Given the description of an element on the screen output the (x, y) to click on. 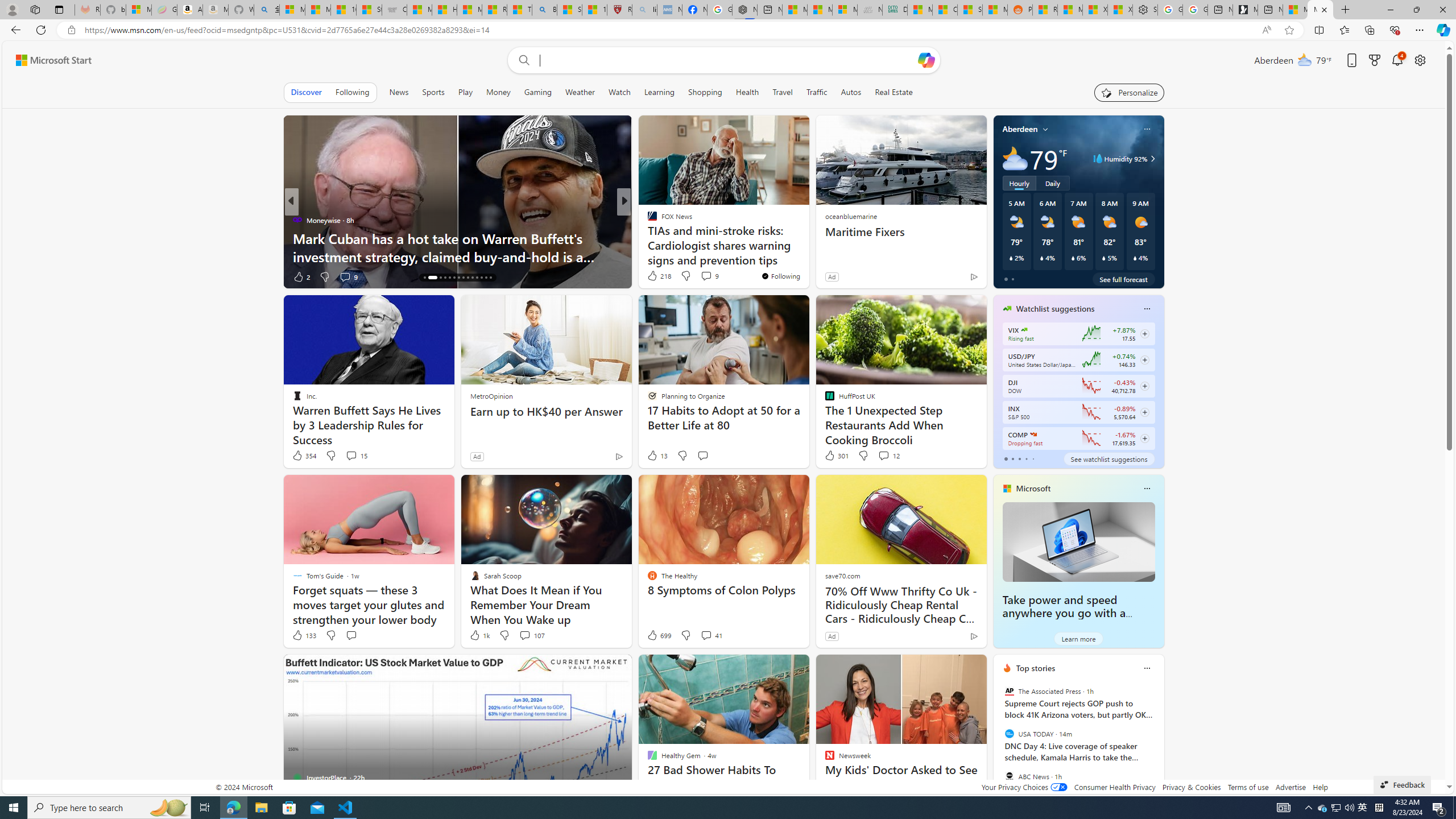
Take power and speed anywhere you go with a Windows laptop. (1063, 613)
My location (1045, 128)
AutomationID: tab-22 (462, 277)
You're following FOX News (780, 275)
AutomationID: tab-24 (472, 277)
